Given the description of an element on the screen output the (x, y) to click on. 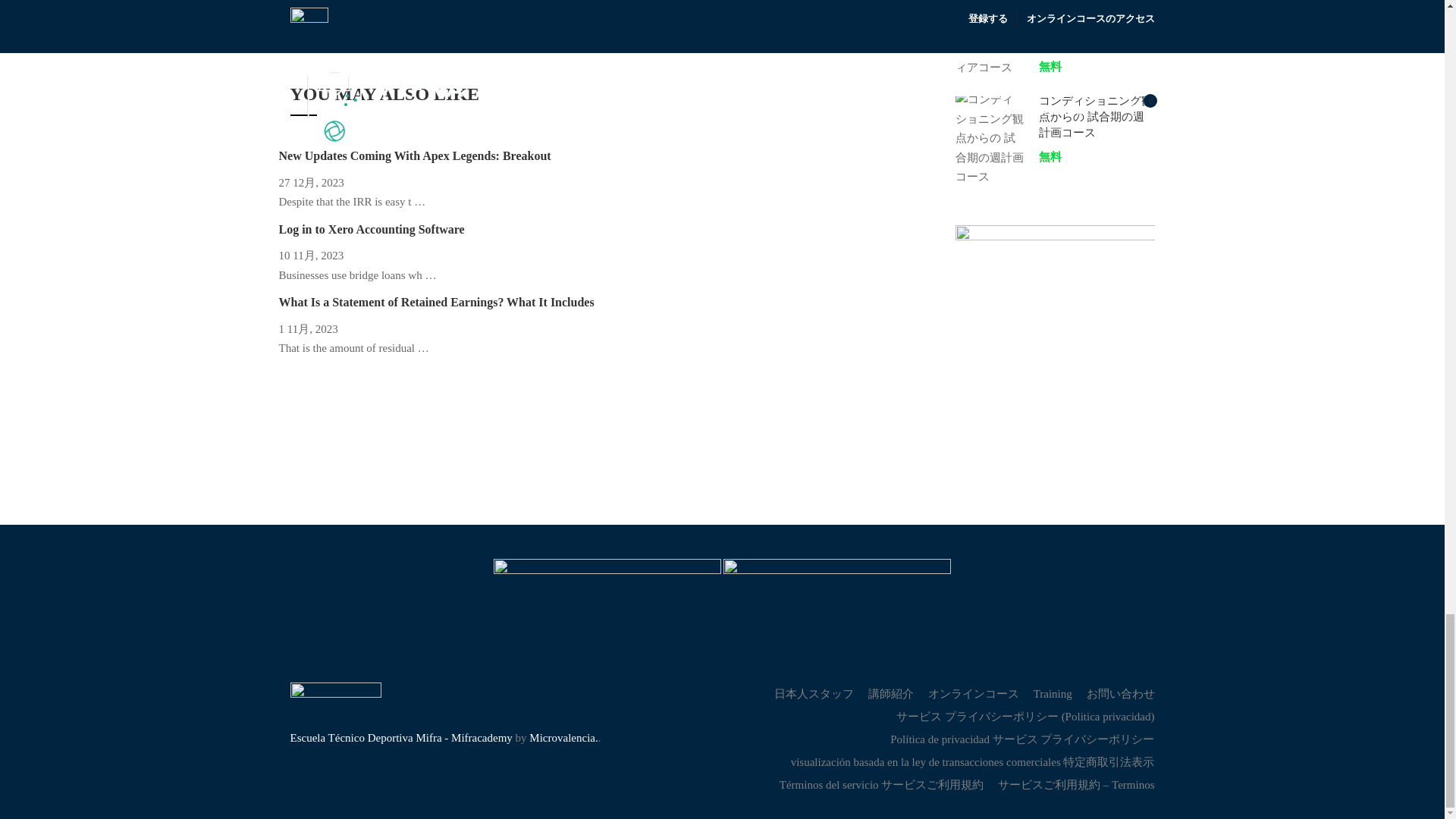
New Updates Coming With Apex Legends: Breakout (415, 178)
What Is a Statement of Retained Earnings? What It Includes (436, 325)
9 Easy Steps to a Successful Odoo ERP Implementation (767, 18)
Log in to Xero Accounting Software (371, 252)
